Given the description of an element on the screen output the (x, y) to click on. 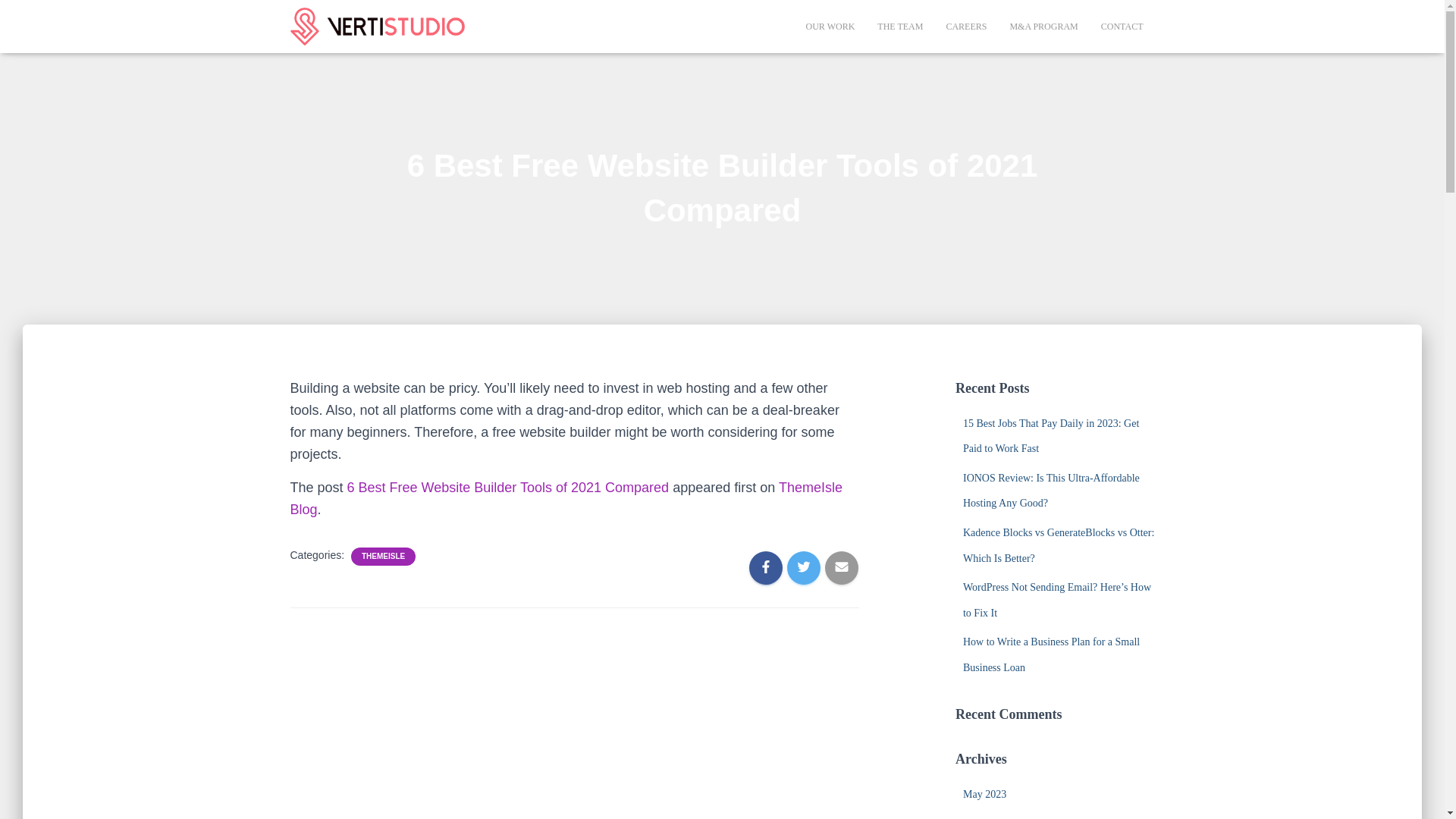
THE TEAM (900, 26)
Kadence Blocks vs GenerateBlocks vs Otter: Which Is Better? (1058, 545)
IONOS Review: Is This Ultra-Affordable Hosting Any Good? (1051, 490)
6 Best Free Website Builder Tools of 2021 Compared (508, 487)
How to Write a Business Plan for a Small Business Loan (1051, 654)
May 2023 (984, 794)
CAREERS (965, 26)
THEMEISLE (382, 556)
CONTACT (1121, 26)
Contact (1121, 26)
